Given the description of an element on the screen output the (x, y) to click on. 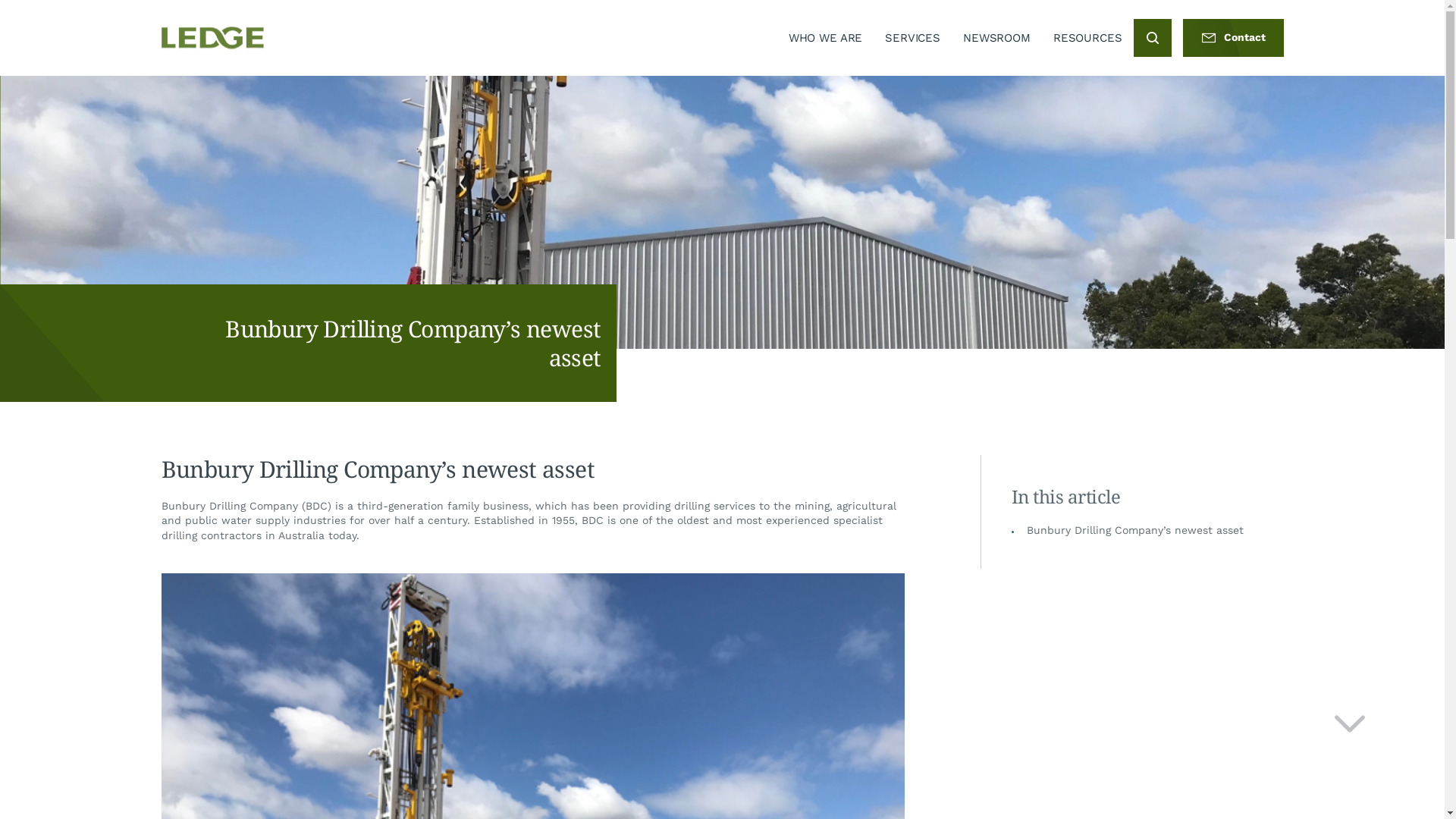
Ledge Element type: hover (212, 37)
Contact Element type: text (1233, 37)
RESOURCES Element type: text (1087, 37)
SERVICES Element type: text (912, 37)
WHO WE ARE Element type: text (825, 37)
NEWSROOM Element type: text (996, 37)
Submit Element type: text (1021, 574)
Search Element type: text (1151, 37)
